Given the description of an element on the screen output the (x, y) to click on. 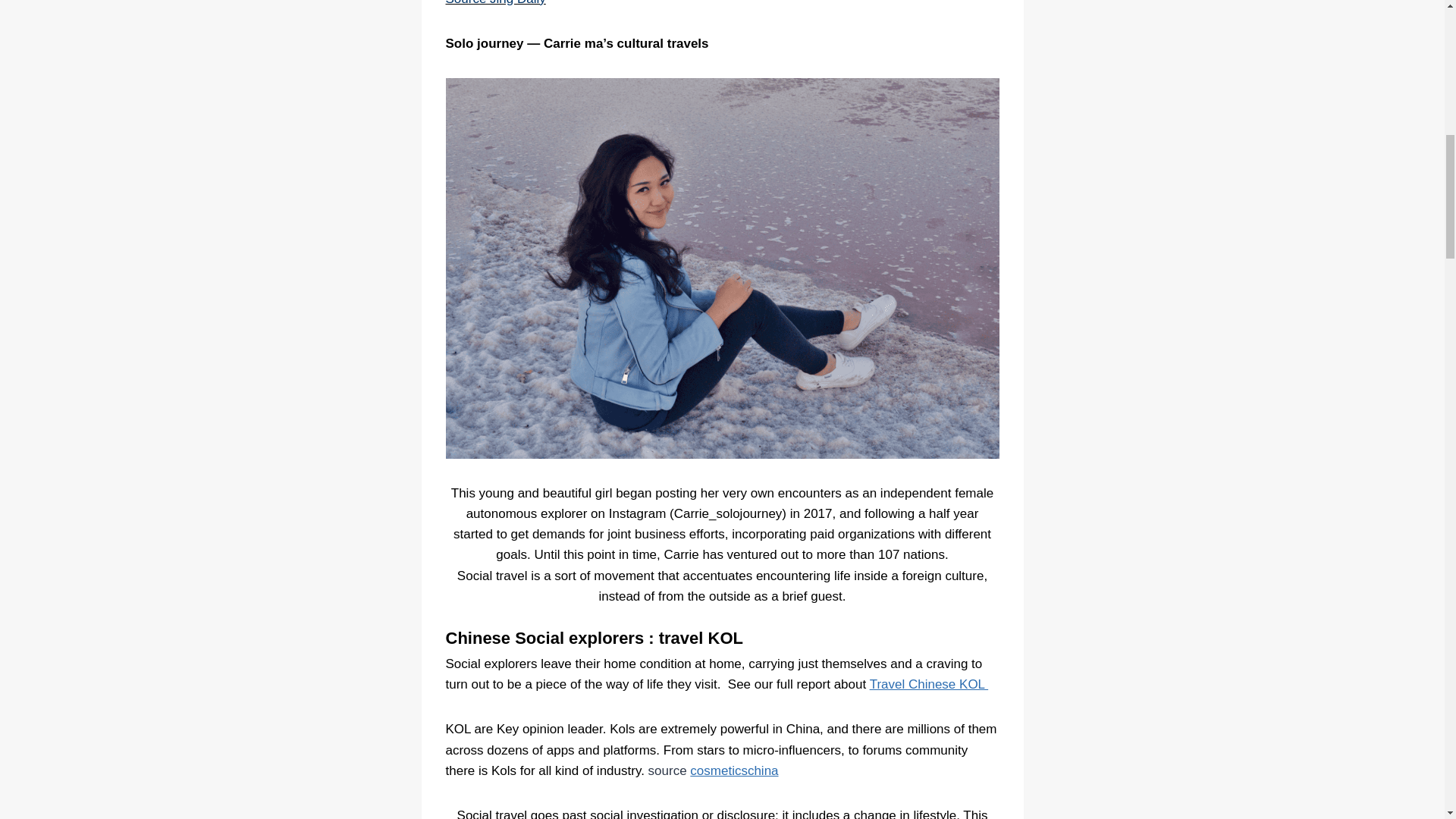
Travel Chinese KOL  (928, 684)
Source Jing Daily (495, 2)
cosmeticschina (733, 770)
